Given the description of an element on the screen output the (x, y) to click on. 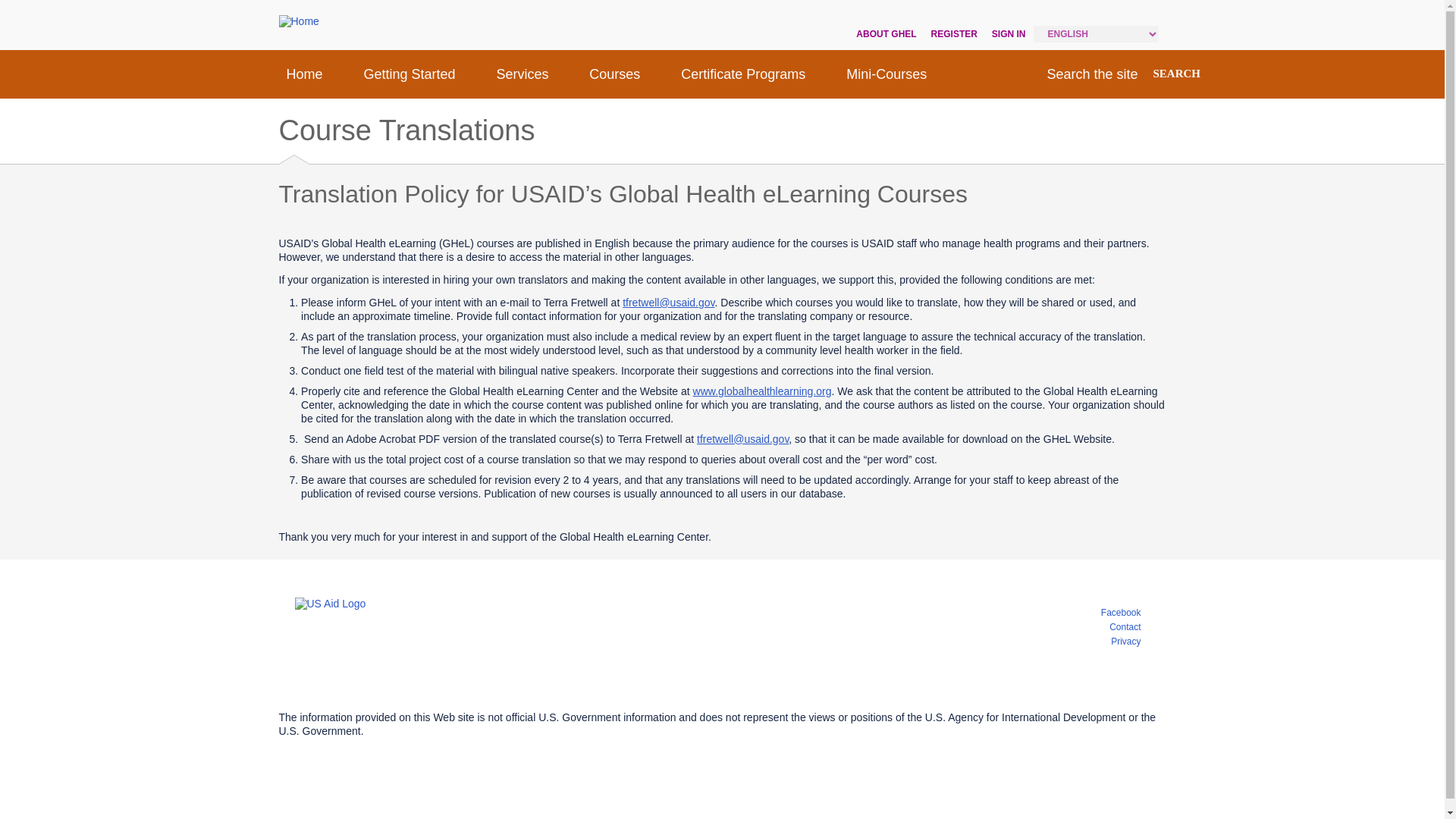
www.globalhealthlearning.org (762, 390)
Privacy (1125, 641)
Search (1176, 73)
Getting started using the site! (408, 73)
Contact (1124, 626)
Home (298, 21)
ABOUT GHEL (879, 33)
Getting Started (408, 73)
SIGN IN (1002, 33)
Home (303, 73)
